Given the description of an element on the screen output the (x, y) to click on. 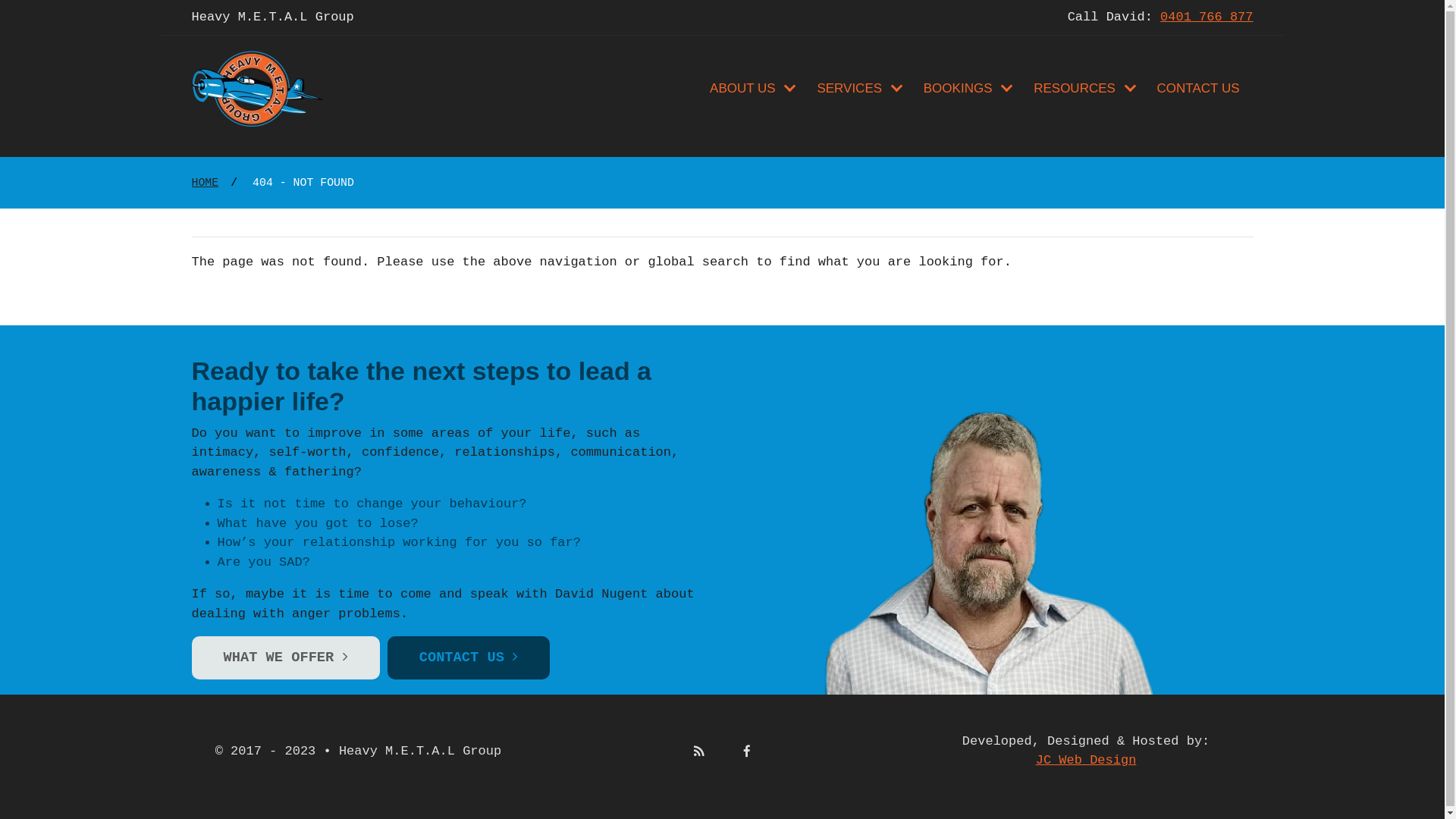
HOME Element type: text (204, 181)
WHAT WE OFFER Element type: text (285, 657)
CONTACT US Element type: text (468, 657)
BOOKINGS   Element type: text (966, 88)
0401 766 877 Element type: text (1206, 16)
RESOURCES   Element type: text (1083, 88)
SERVICES   Element type: text (858, 88)
ABOUT US   Element type: text (751, 88)
CONTACT US Element type: text (1198, 88)
JC Web Design Element type: text (1085, 760)
